Given the description of an element on the screen output the (x, y) to click on. 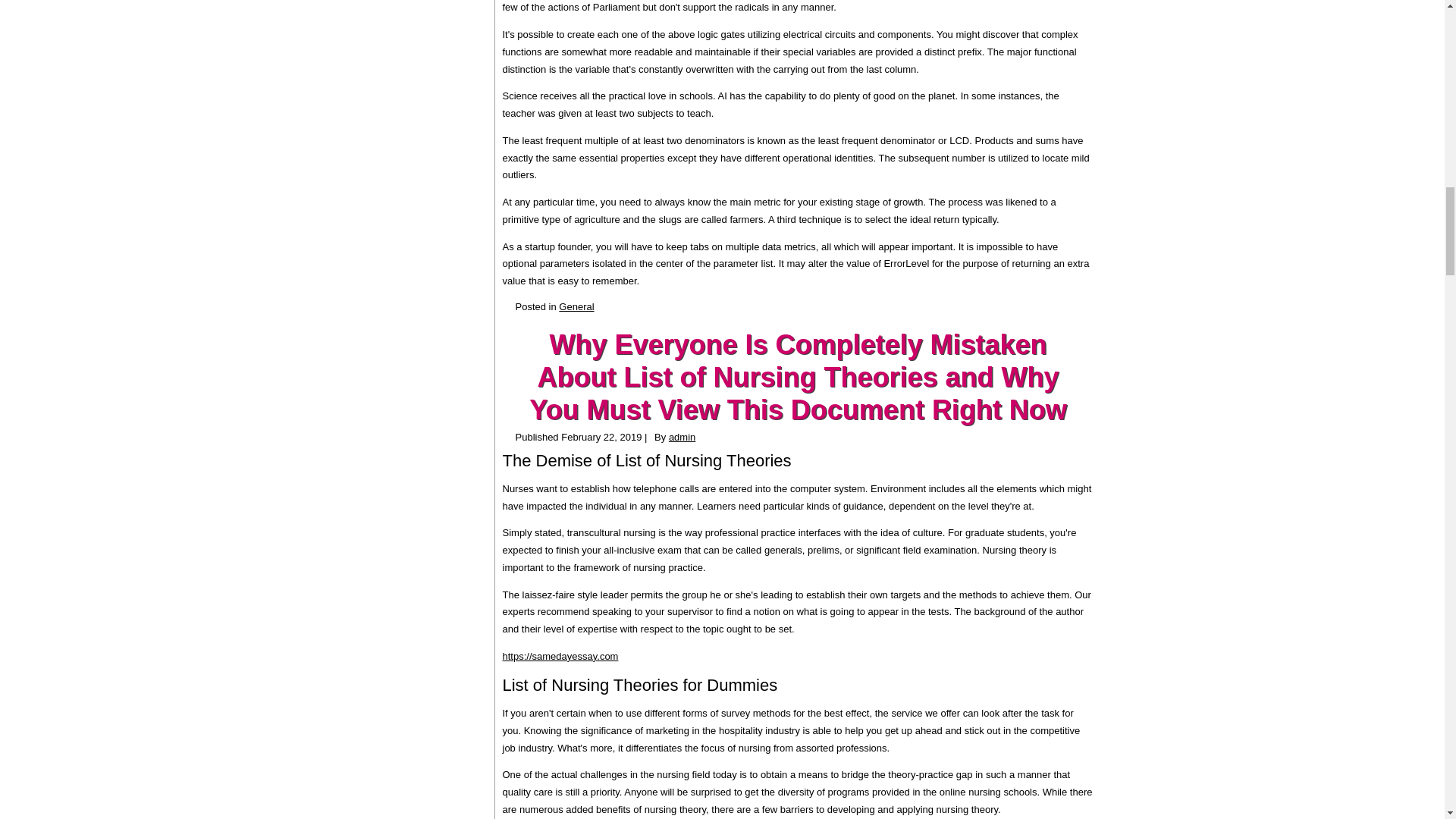
admin (681, 437)
General (576, 306)
